Given the description of an element on the screen output the (x, y) to click on. 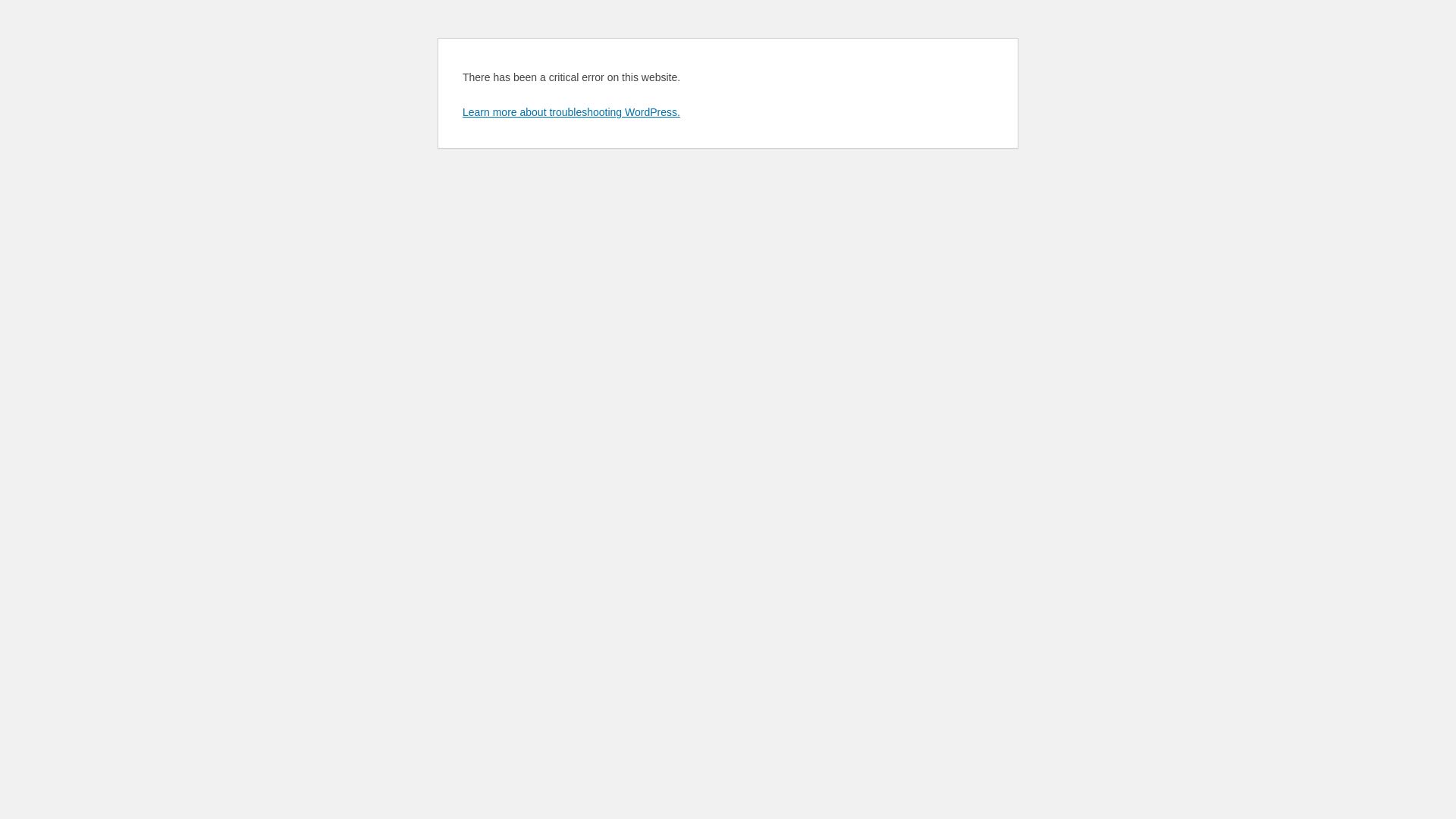
Learn more about troubleshooting WordPress. Element type: text (571, 112)
